Given the description of an element on the screen output the (x, y) to click on. 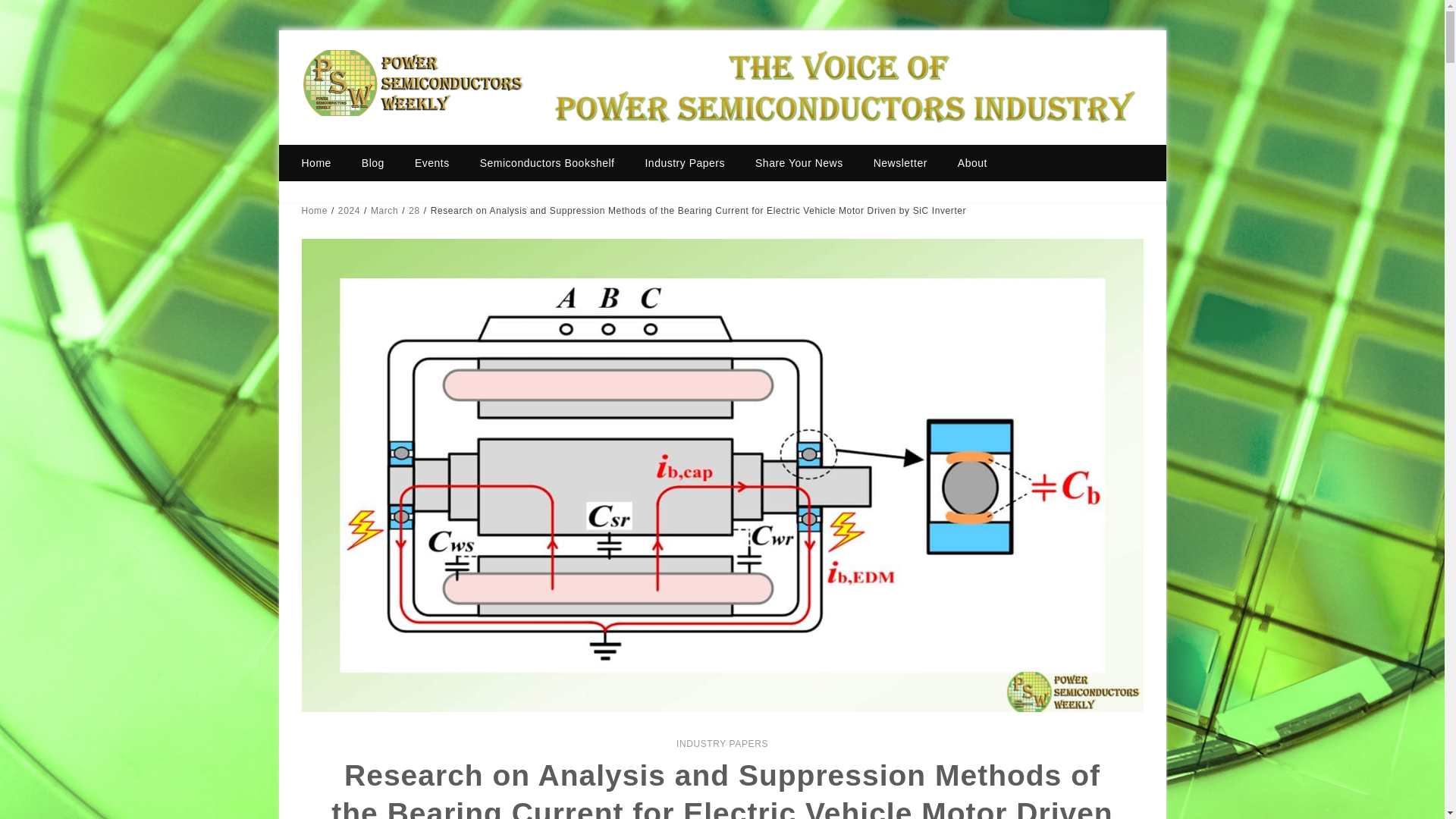
Share Your News (799, 162)
Industry Papers (683, 162)
28 (414, 210)
March (384, 210)
Home (323, 162)
Events (431, 162)
Blog (372, 162)
2024 (348, 210)
Semiconductors Bookshelf (547, 162)
Home (314, 210)
About (972, 162)
Newsletter (900, 162)
INDUSTRY PAPERS (721, 743)
